Given the description of an element on the screen output the (x, y) to click on. 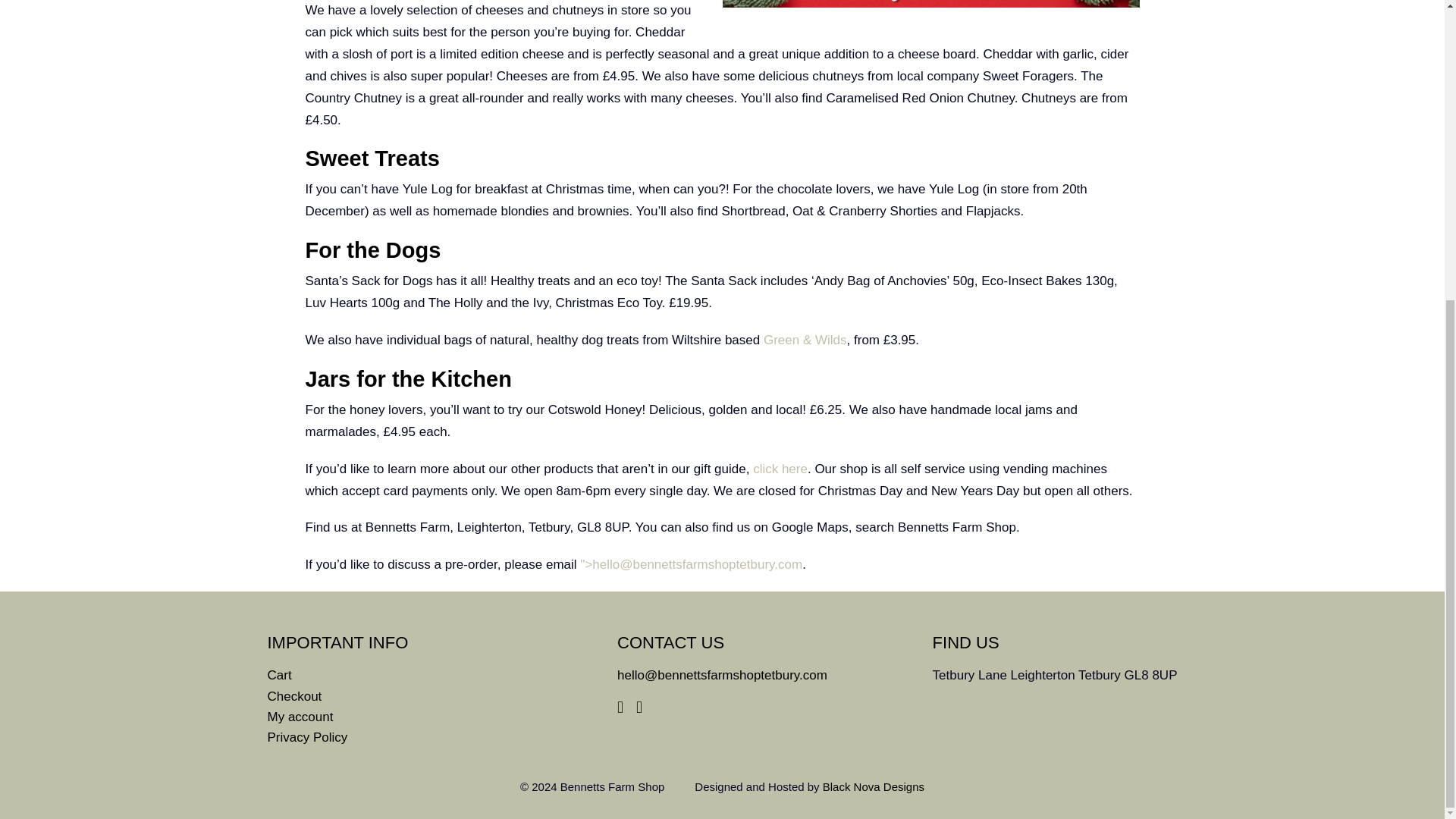
My account (299, 716)
click here (780, 468)
Checkout (293, 696)
Cart (278, 675)
Privacy Policy (306, 737)
Black Nova Designs (873, 786)
